Given the description of an element on the screen output the (x, y) to click on. 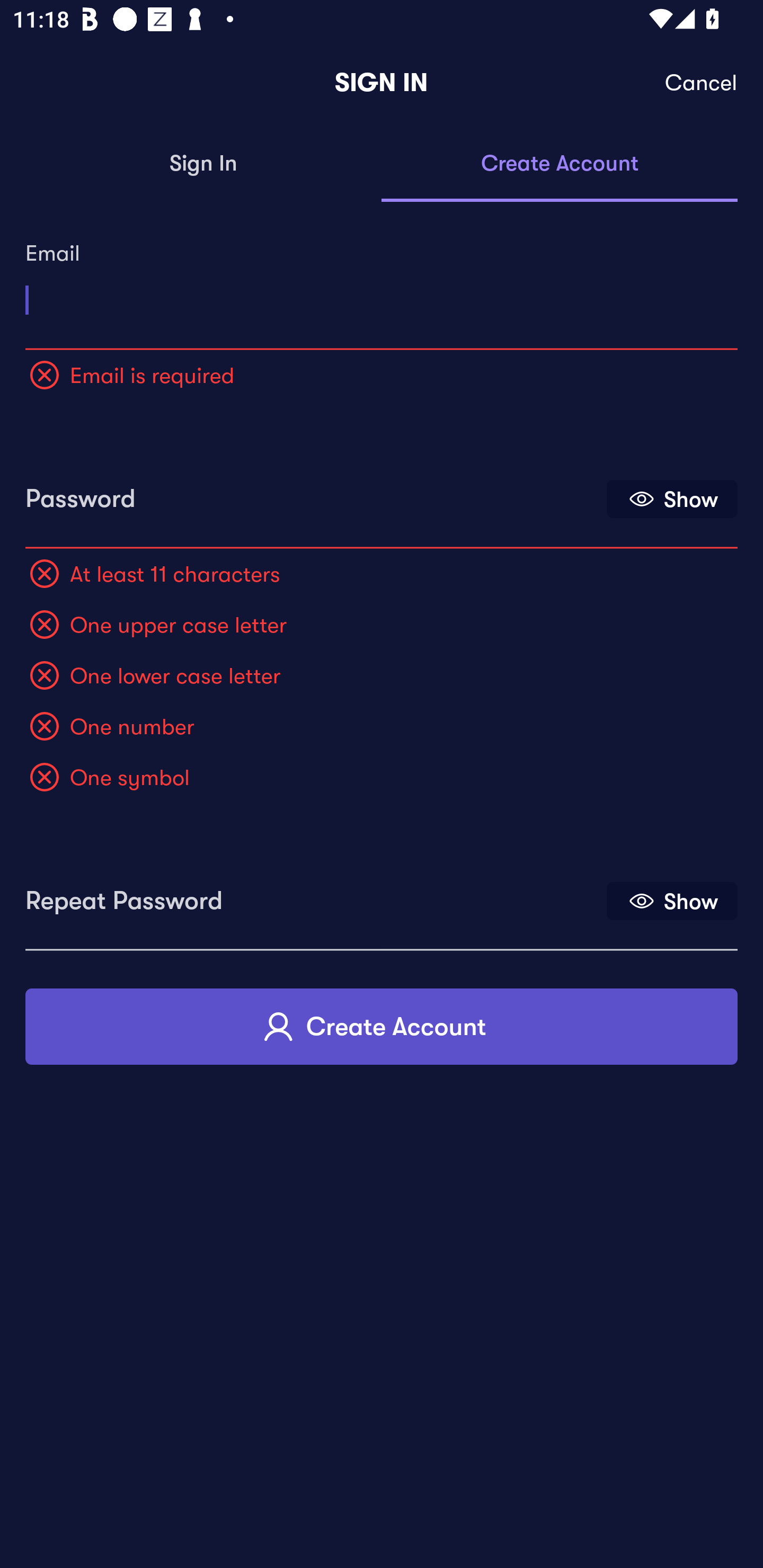
Cancel (701, 82)
Sign In (203, 164)
Create Account (559, 164)
Email, error message, Email is required (381, 293)
Password, error message, At least 11 characters (314, 493)
Show Password Show (671, 498)
Repeat Password (314, 894)
Show Repeat Password Show (671, 900)
Create Account (381, 1025)
